Given the description of an element on the screen output the (x, y) to click on. 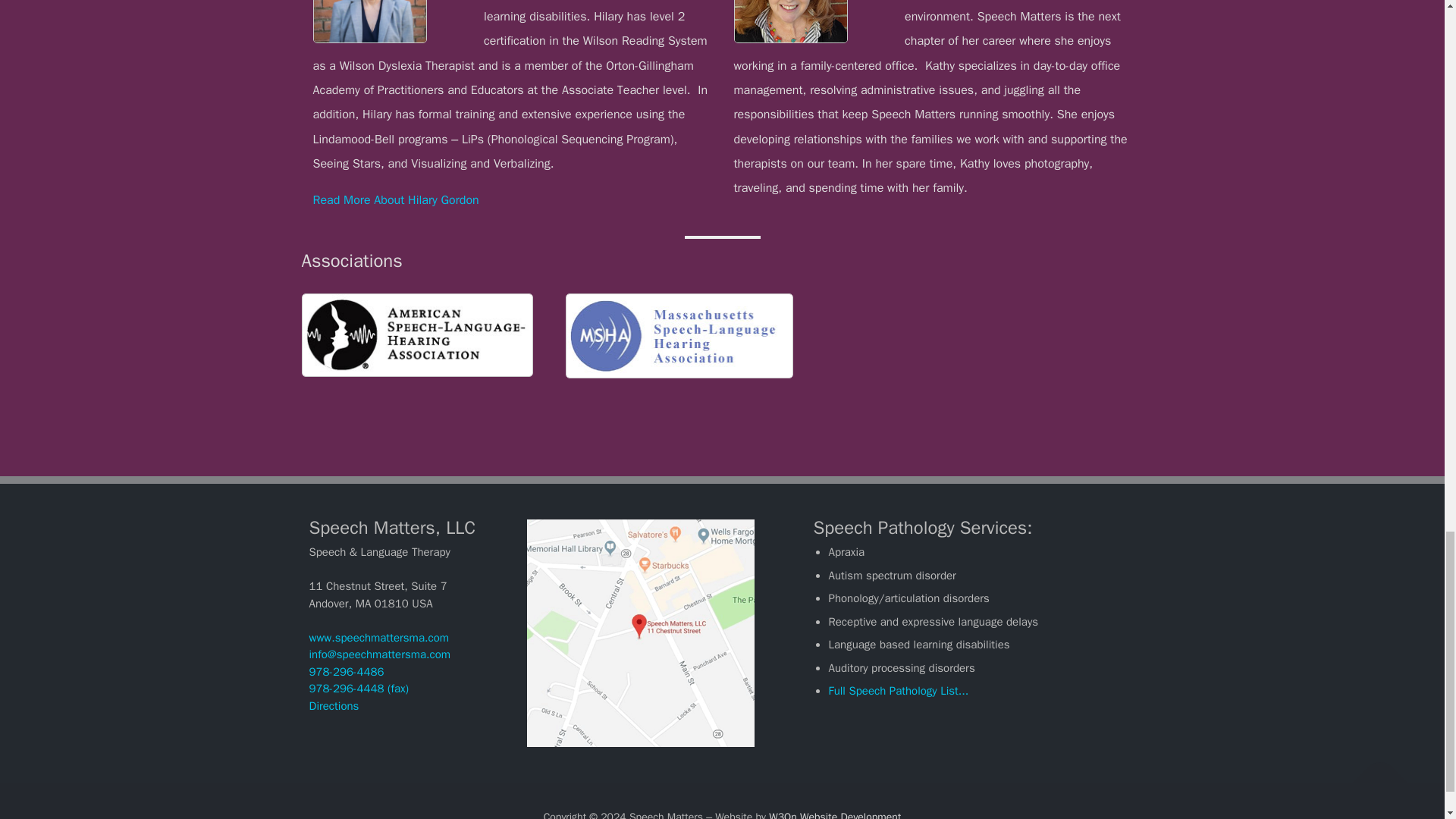
Full Speech Pathology List... (898, 690)
978-296-4486 (346, 671)
www.speechmattersma.com (378, 637)
Read More About Hilary Gordon (396, 200)
W3On Website Development (834, 814)
Directions (333, 705)
Back To Top (1372, 774)
